Given the description of an element on the screen output the (x, y) to click on. 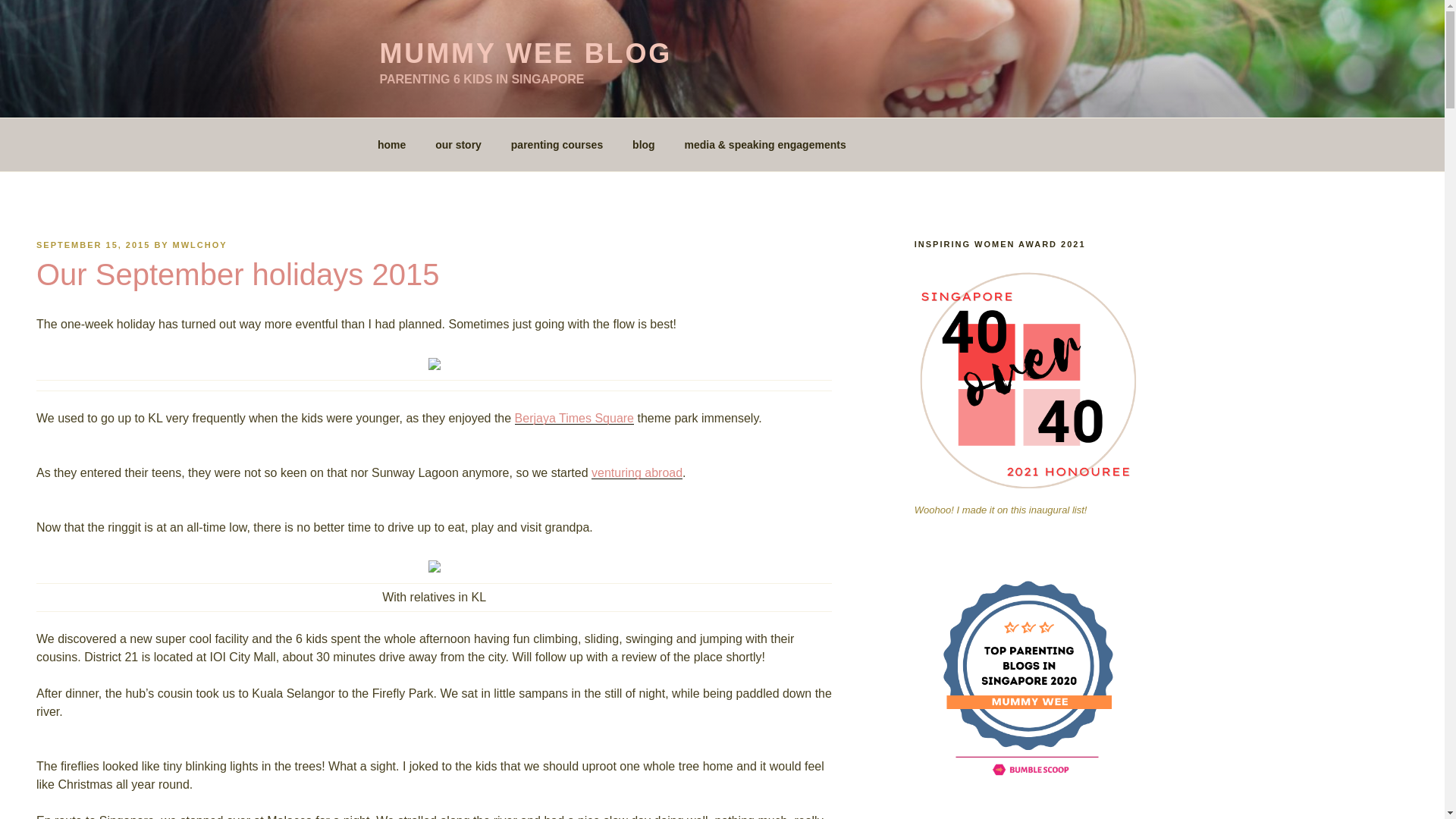
our story (458, 144)
2021 Inspiring Women Award (1027, 380)
home (391, 144)
parenting courses (556, 144)
blog (644, 144)
MUMMY WEE BLOG (524, 52)
venturing abroad (636, 472)
Berjaya Times Square (574, 418)
MWLCHOY (200, 244)
SEPTEMBER 15, 2015 (92, 244)
